Given the description of an element on the screen output the (x, y) to click on. 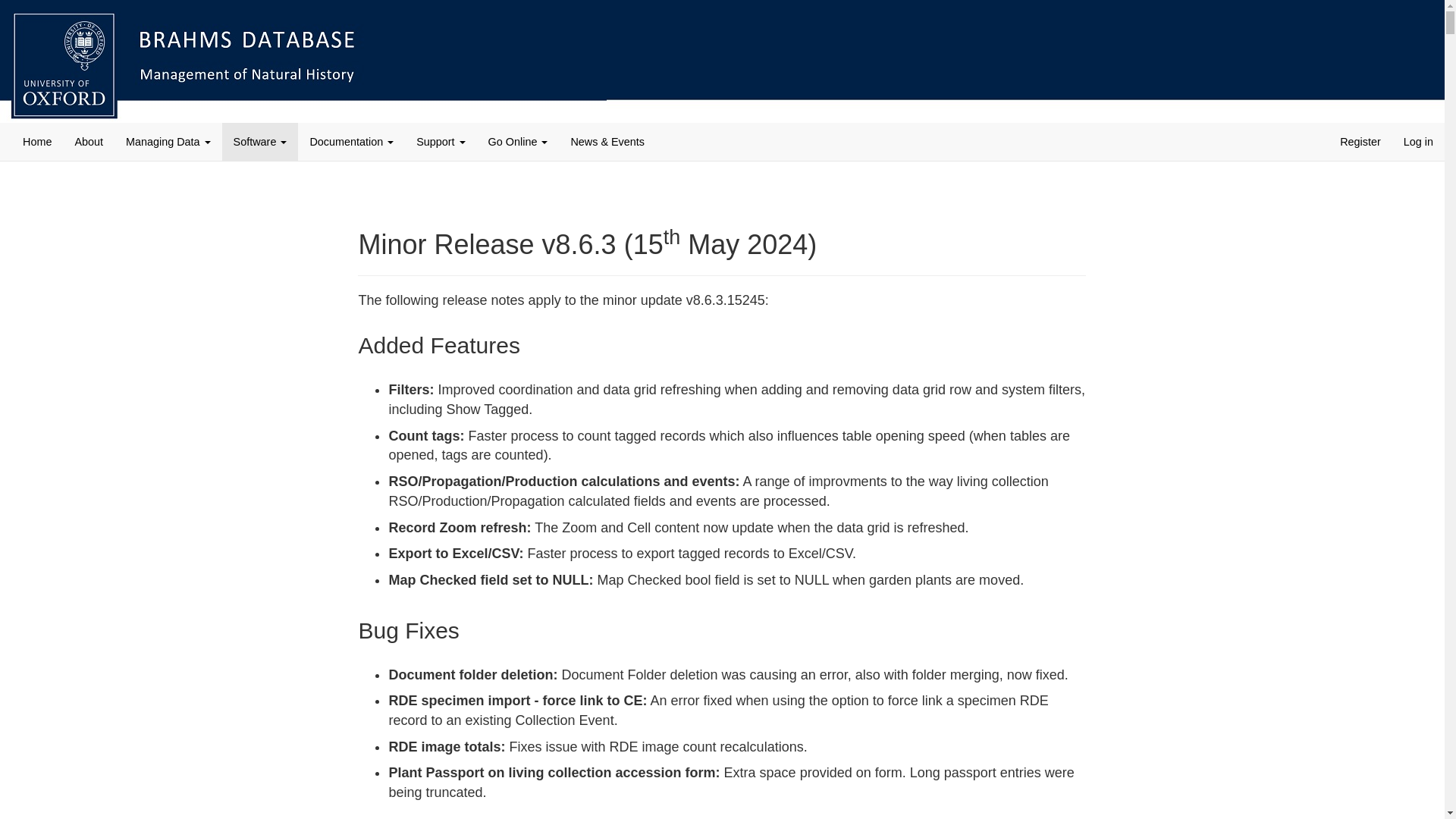
Documentation (351, 141)
About (88, 141)
Software (260, 141)
Managing Data (168, 141)
BRAHMS database (303, 61)
Home (36, 141)
Go Online (518, 141)
Support (440, 141)
